Given the description of an element on the screen output the (x, y) to click on. 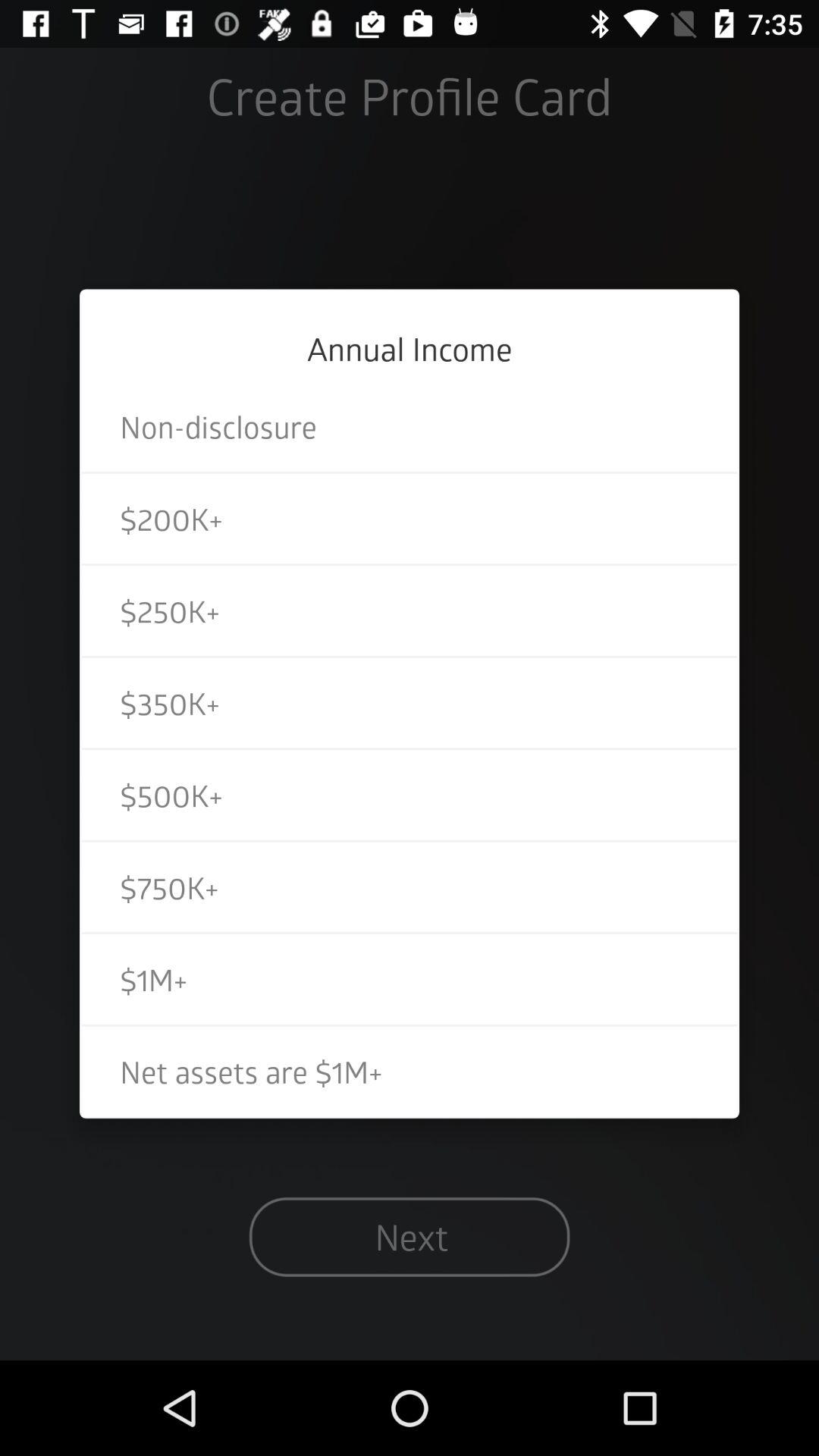
click the icon above the $350k+ item (409, 610)
